Given the description of an element on the screen output the (x, y) to click on. 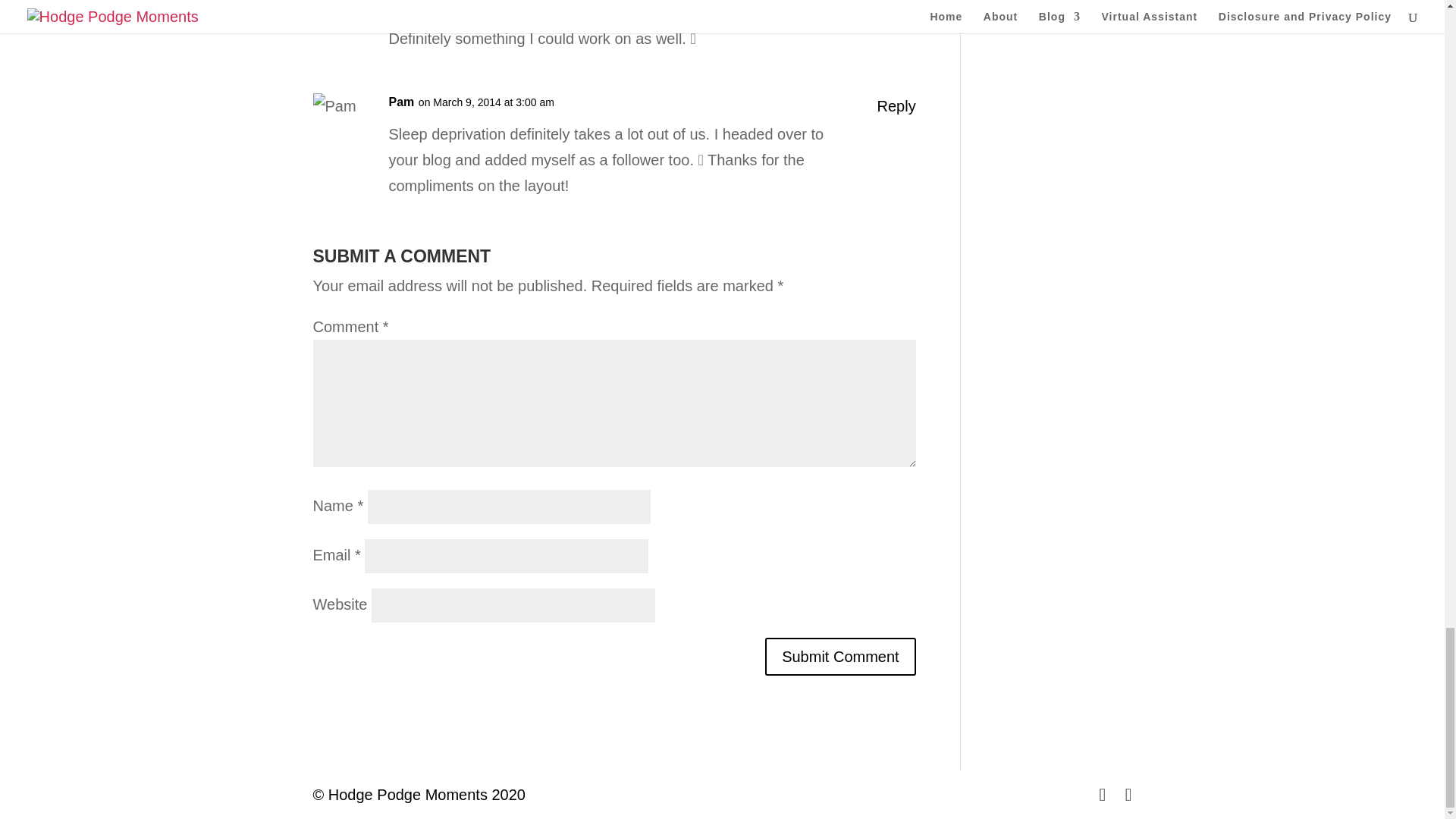
Submit Comment (840, 656)
Submit Comment (840, 656)
Pam (400, 102)
Reply (896, 105)
